Given the description of an element on the screen output the (x, y) to click on. 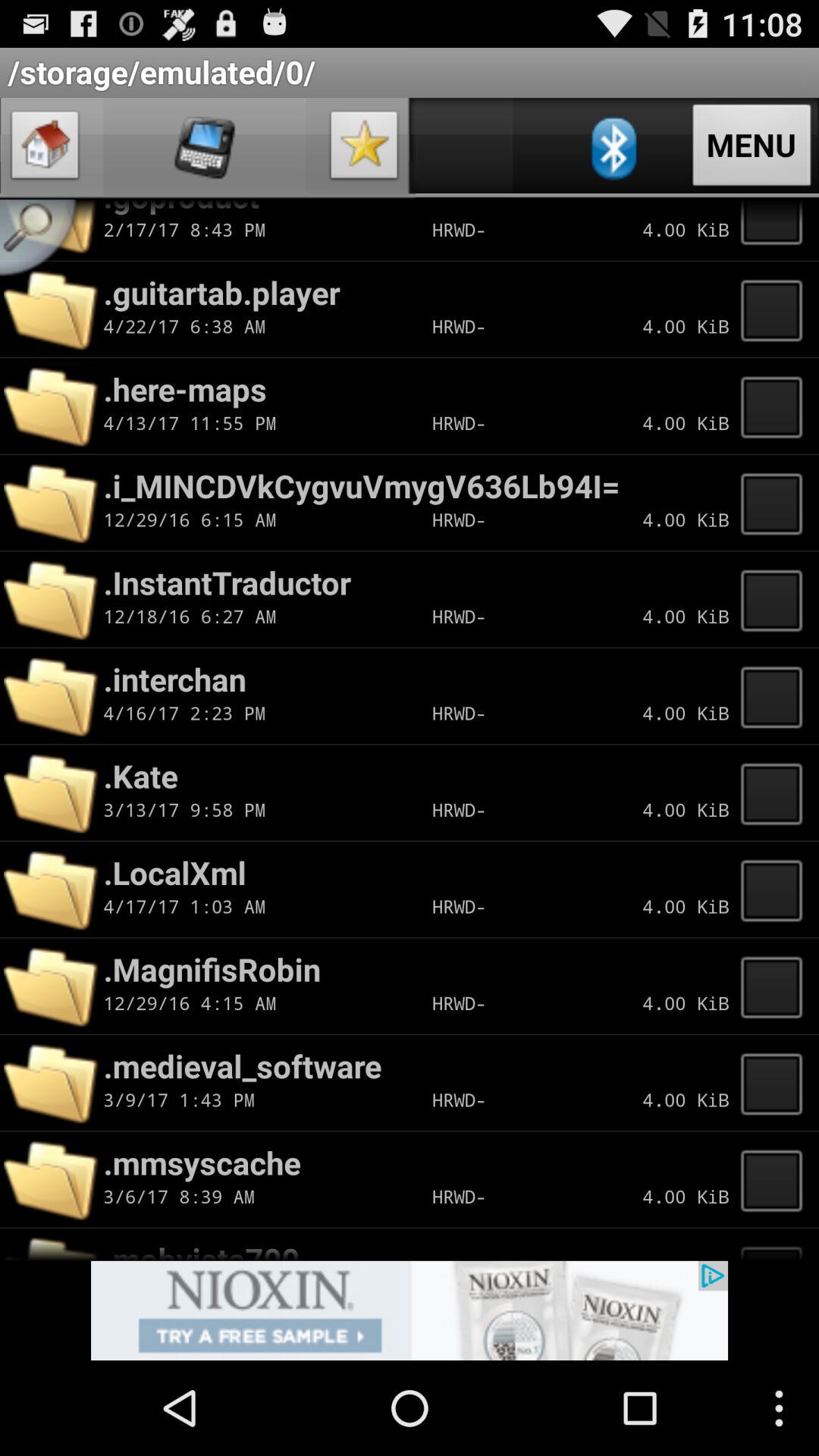
select the here-maps folder (776, 405)
